Given the description of an element on the screen output the (x, y) to click on. 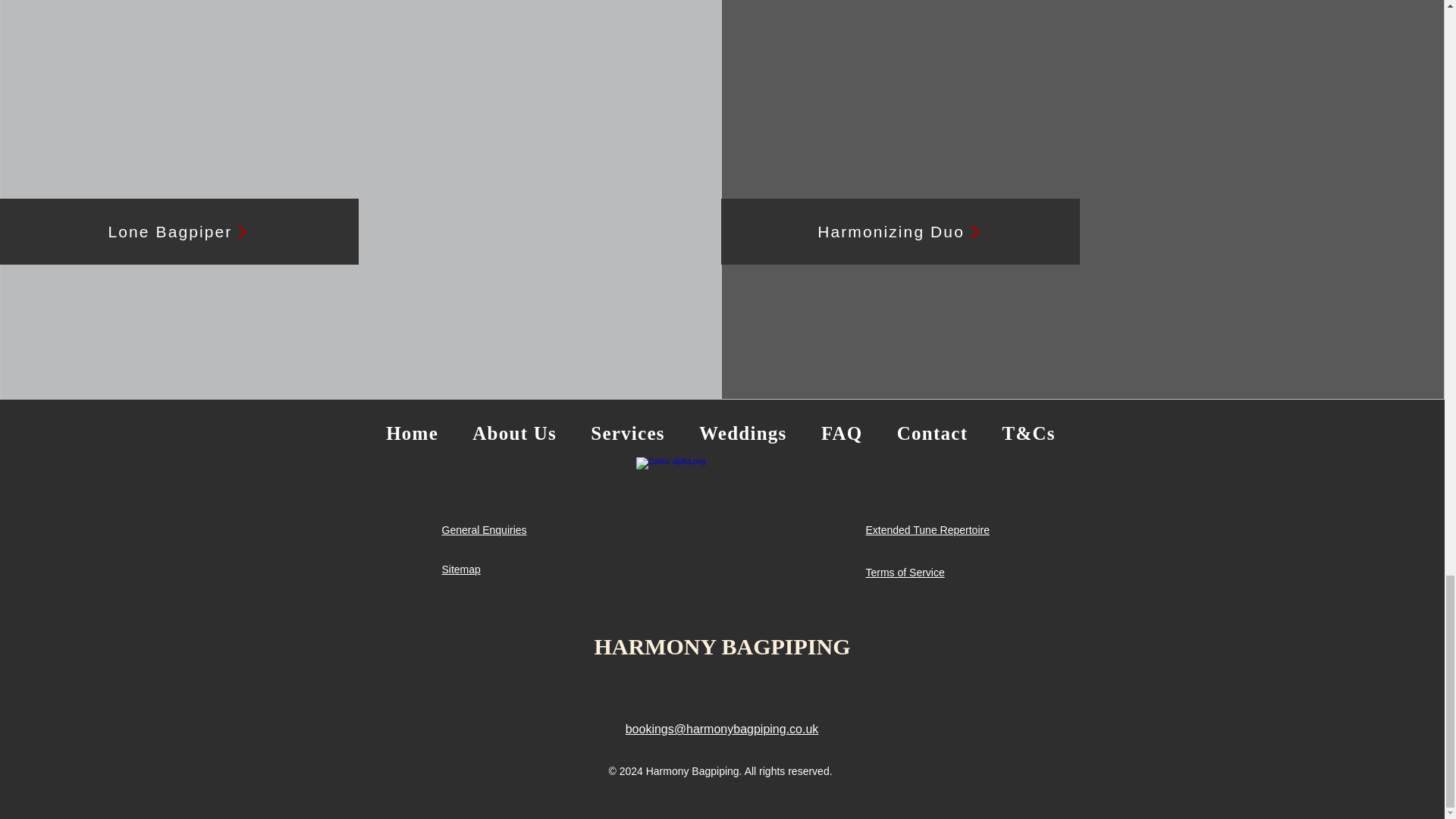
Sitemap (460, 569)
Back to Homepage (719, 541)
Services (627, 433)
About Us (514, 433)
Home (411, 433)
Weddings (742, 433)
FAQ (841, 433)
Contact (931, 433)
Harmonizing Duo (900, 231)
General Enquiries (483, 530)
Extended Tune Repertoire (928, 530)
Lone Bagpiper (179, 231)
Terms of Service (905, 572)
